Given the description of an element on the screen output the (x, y) to click on. 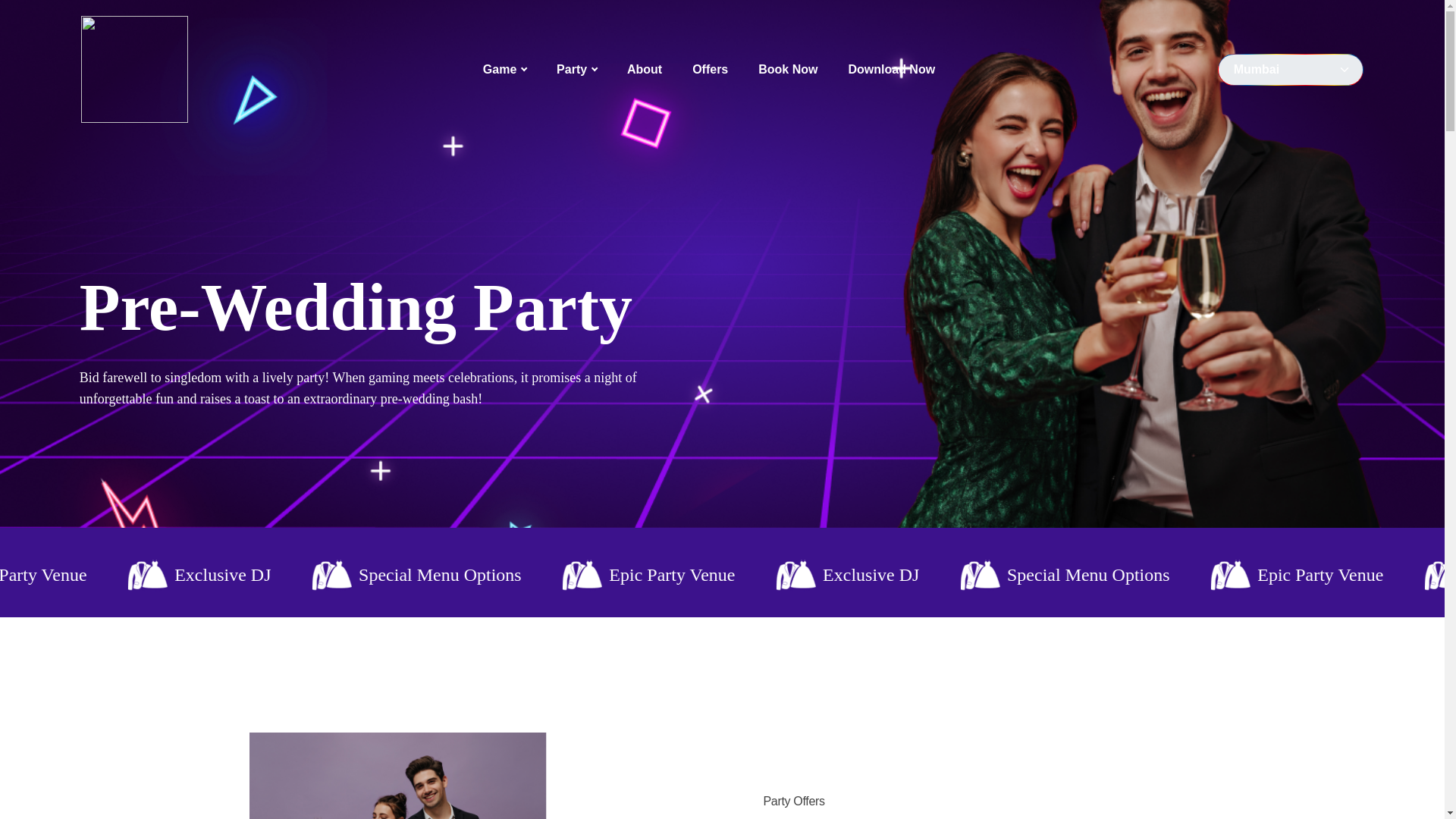
About (644, 69)
Party (576, 69)
Offers (709, 69)
Download Now (890, 69)
Game (504, 69)
Book Now (788, 69)
